Given the description of an element on the screen output the (x, y) to click on. 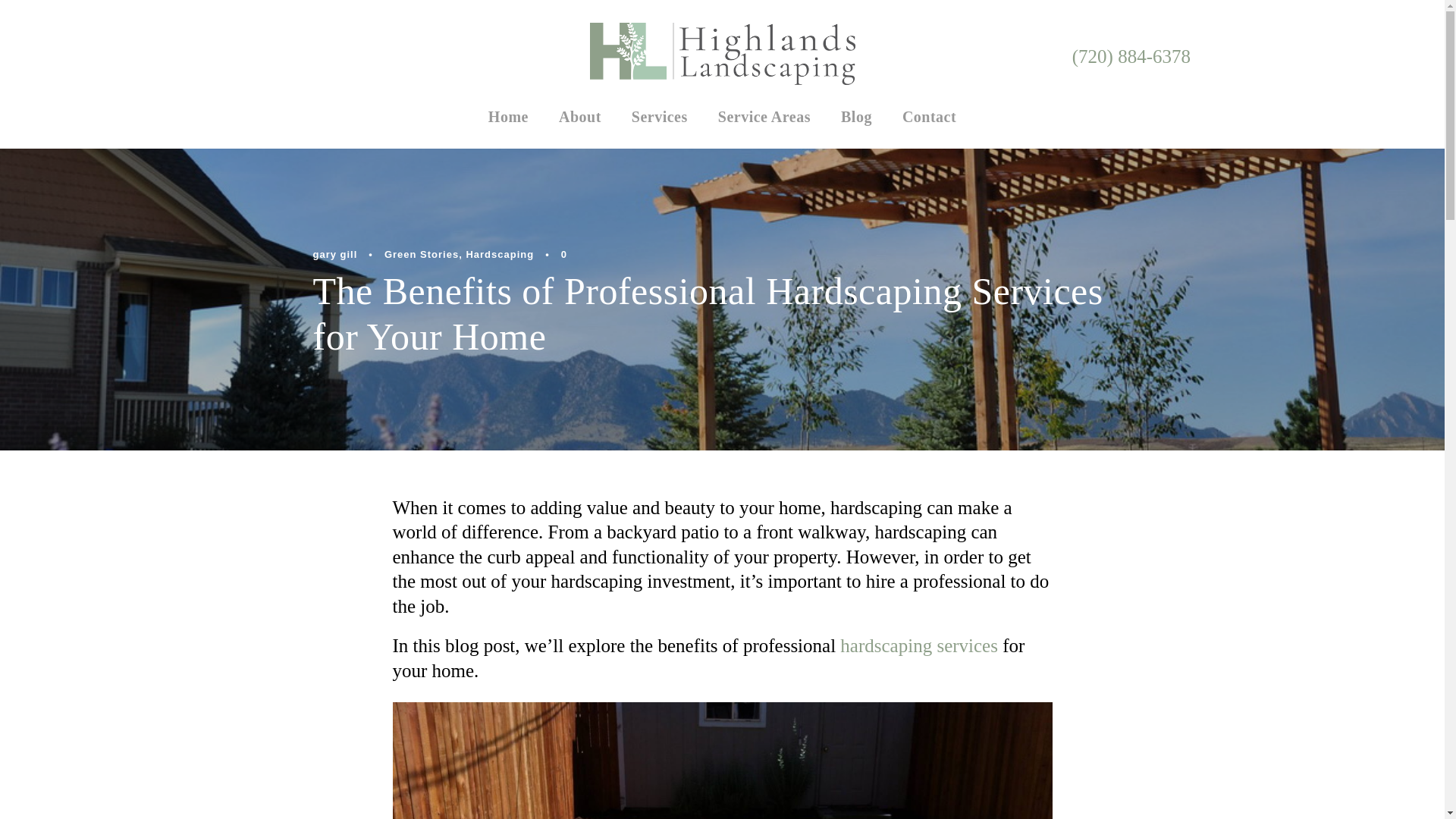
Posts by gary gill (334, 254)
